Given the description of an element on the screen output the (x, y) to click on. 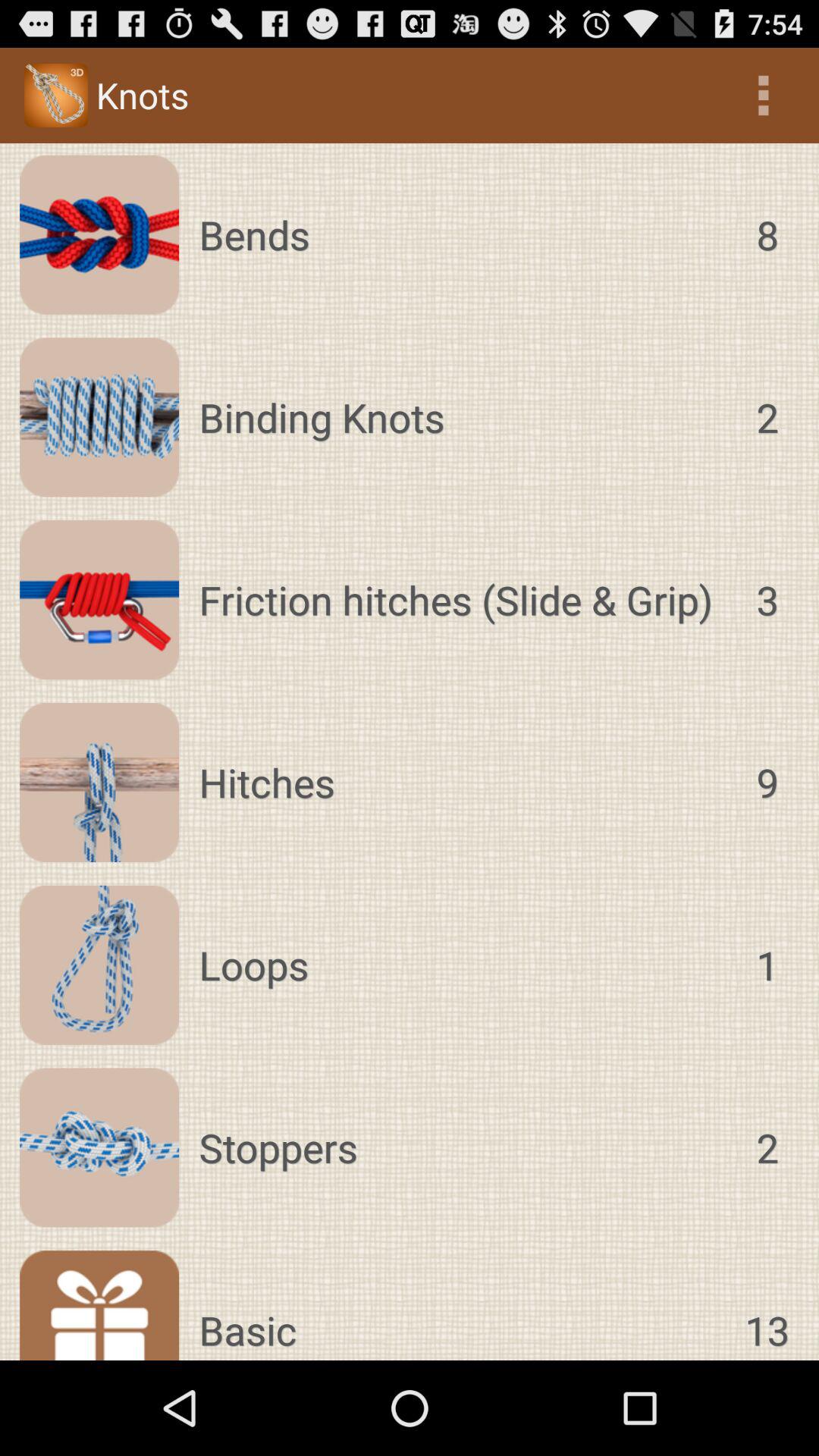
press the item below stoppers icon (767, 1305)
